Given the description of an element on the screen output the (x, y) to click on. 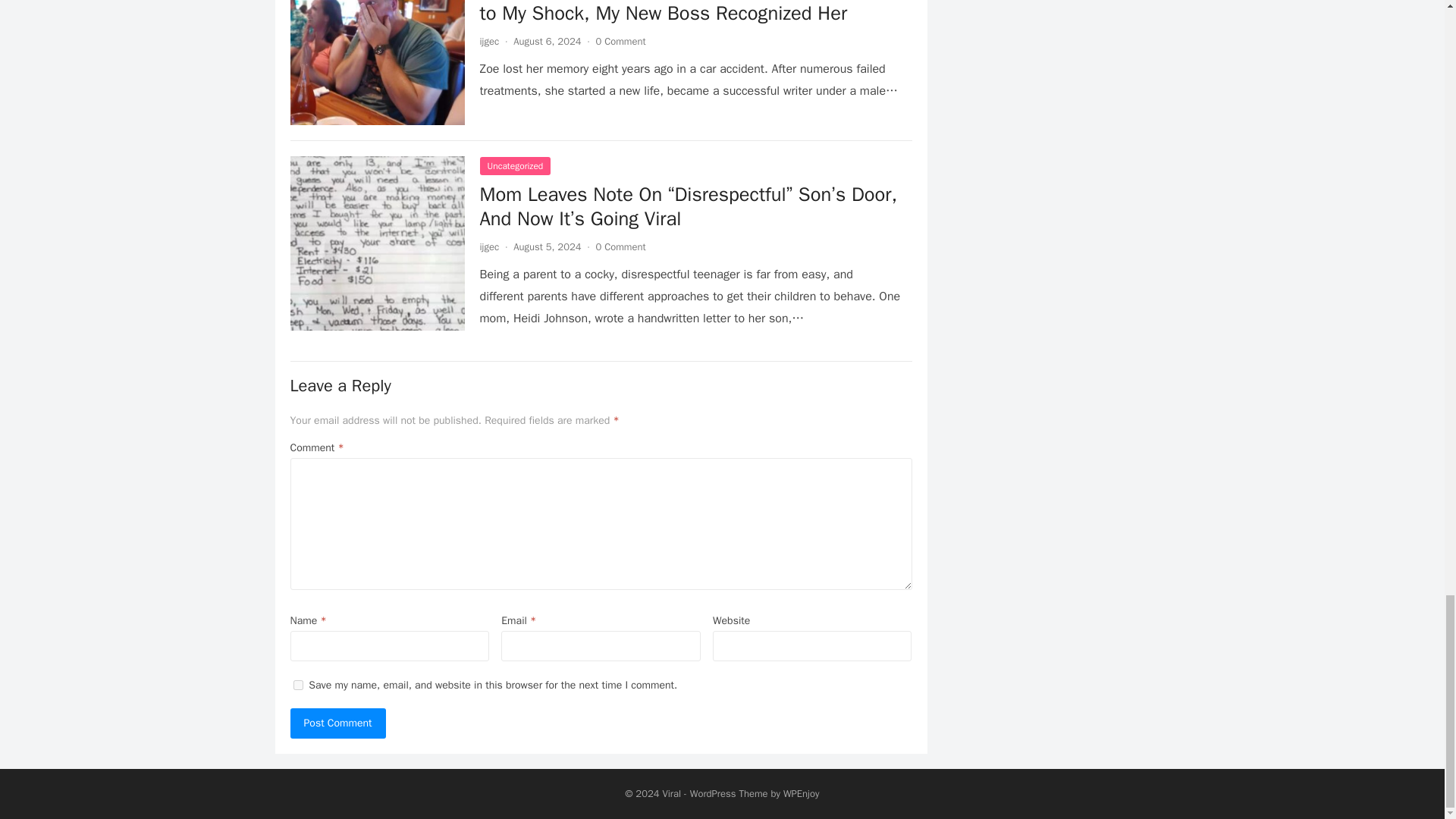
yes (297, 685)
Posts by ijgec (489, 41)
0 Comment (620, 41)
Posts by ijgec (489, 246)
Post Comment (337, 723)
Uncategorized (514, 166)
ijgec (489, 41)
